Given the description of an element on the screen output the (x, y) to click on. 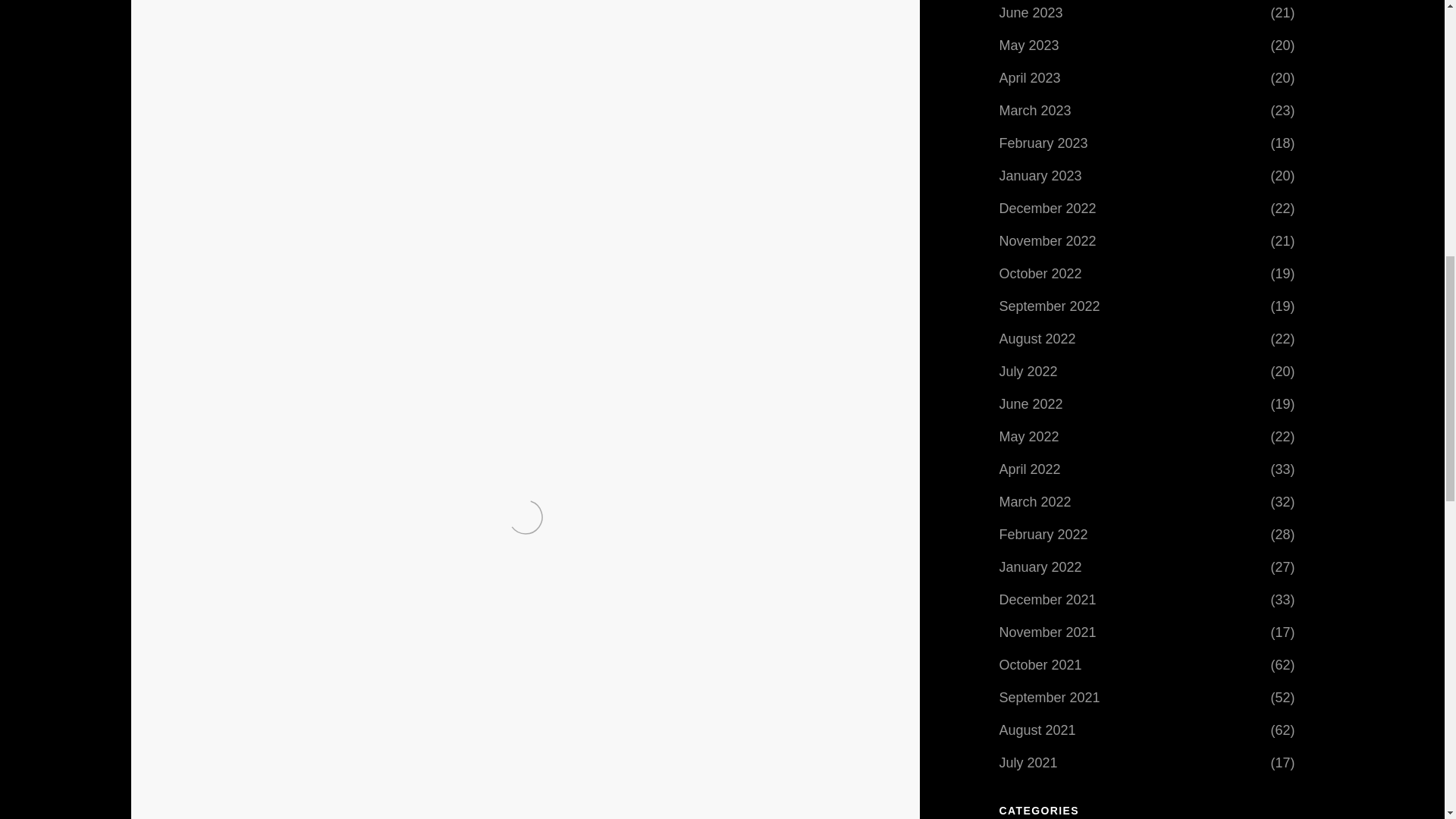
June 2023 (1030, 13)
September 2022 (1049, 306)
July 2022 (1028, 370)
February 2023 (1042, 143)
April 2023 (1029, 77)
August 2022 (1036, 338)
December 2022 (1047, 207)
January 2023 (1039, 175)
May 2023 (1028, 44)
October 2022 (1039, 273)
November 2022 (1047, 240)
March 2023 (1034, 110)
